Given the description of an element on the screen output the (x, y) to click on. 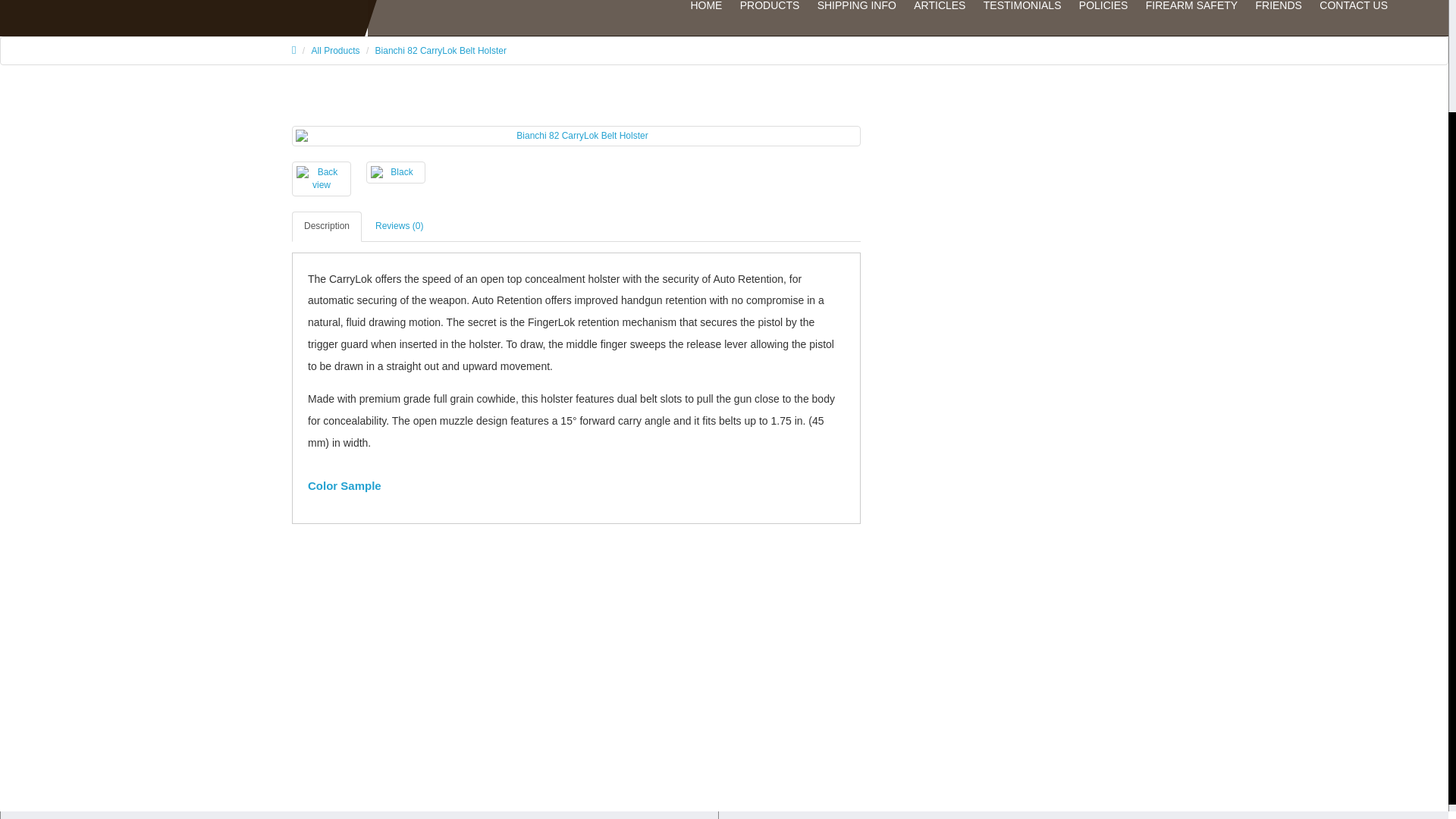
ARTICLES (938, 13)
SHIPPING INFO (856, 13)
Color Sample (344, 485)
Bianchi 82 CarryLok Belt Holster (576, 136)
Black (395, 172)
Back view (321, 178)
FIREARM SAFETY (1191, 13)
POLICIES (1103, 13)
Black (395, 172)
Bianchi 82 CarryLok Belt Holster (440, 50)
Bianchi 82 CarryLok Belt Holster (576, 135)
Description (326, 225)
CONTACT US (1352, 13)
All Products (335, 50)
FRIENDS (1277, 13)
